Given the description of an element on the screen output the (x, y) to click on. 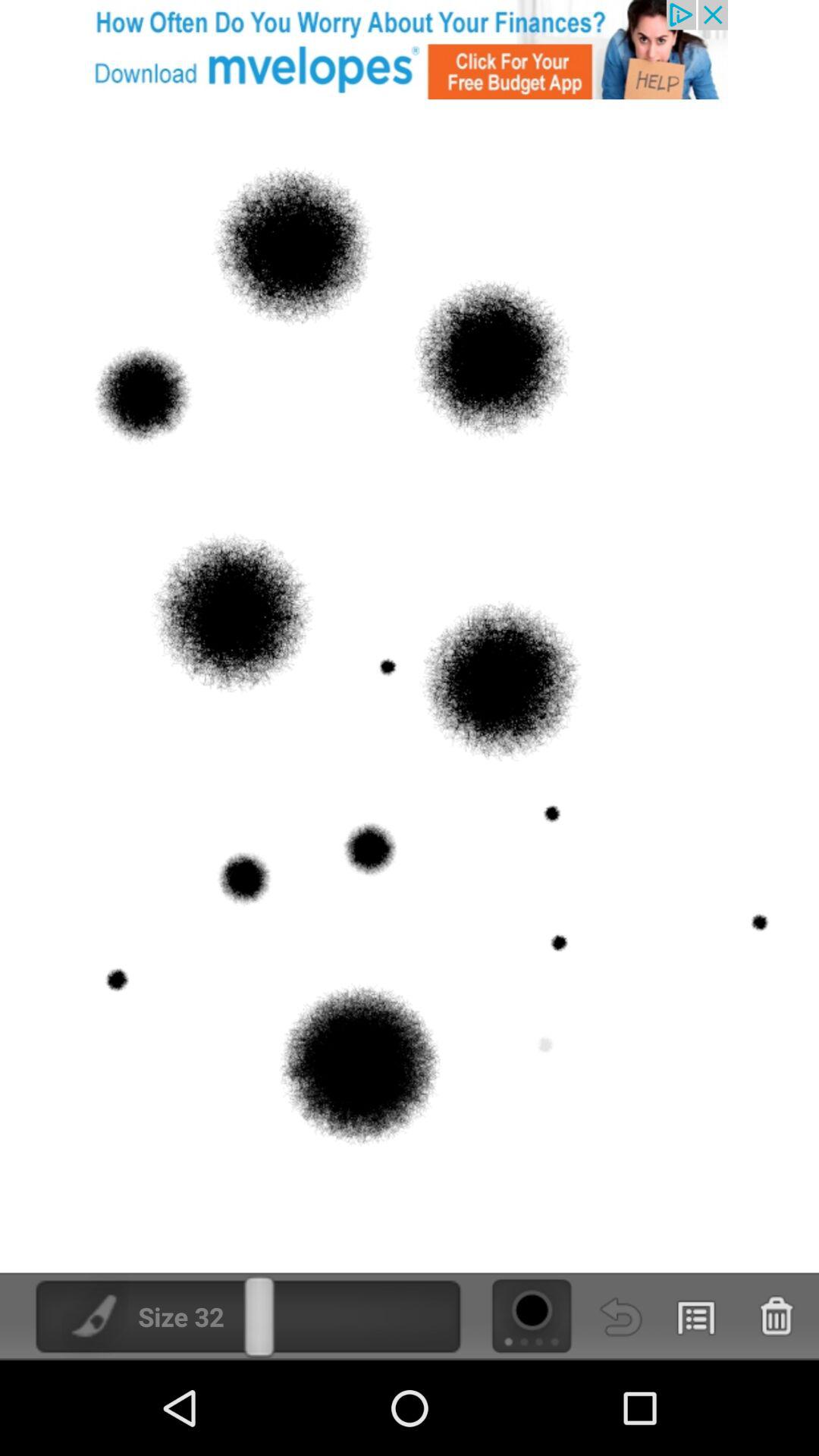
go to advertisement link (409, 49)
